Given the description of an element on the screen output the (x, y) to click on. 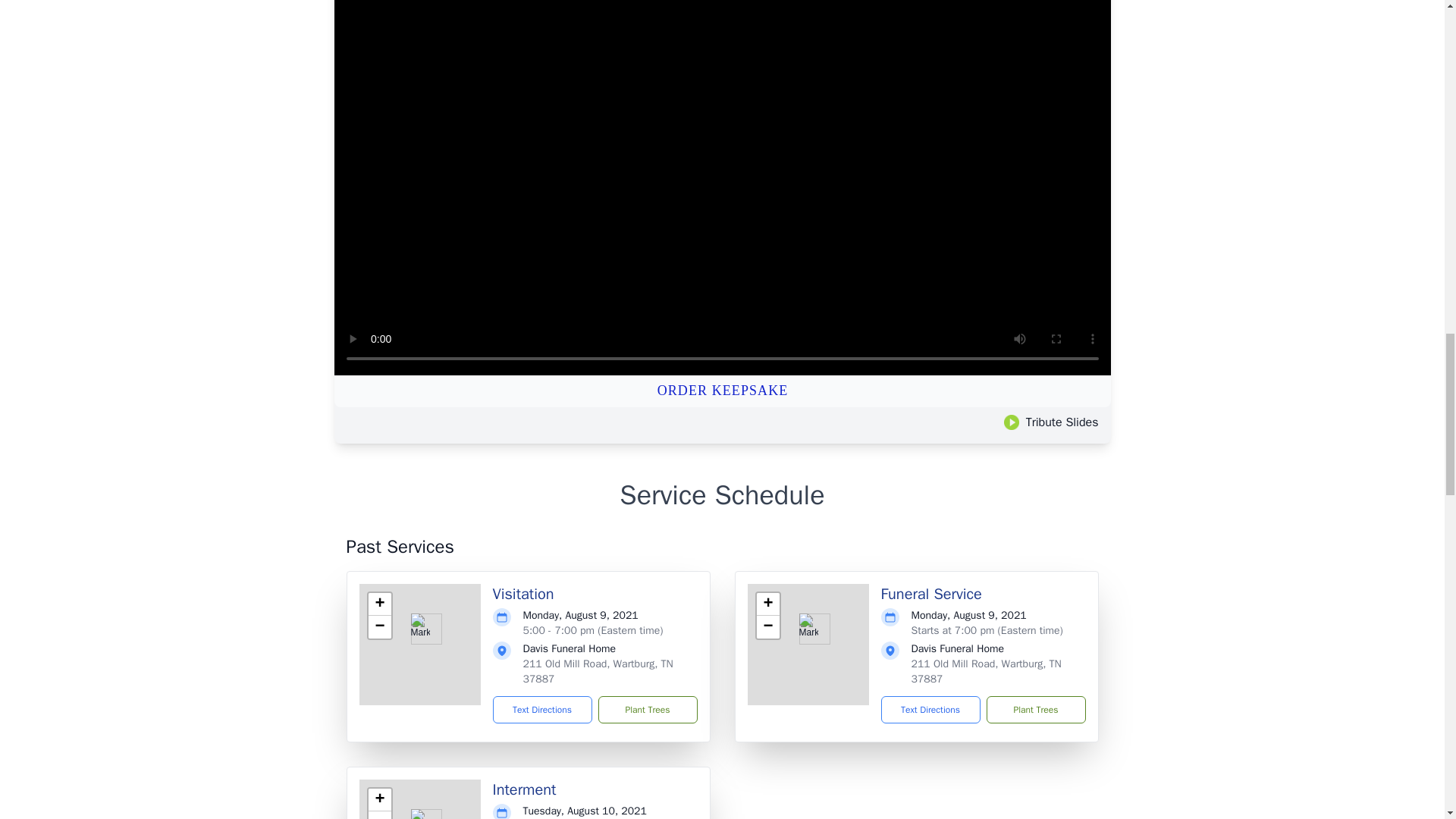
Text Directions (929, 709)
Plant Trees (646, 709)
Zoom in (379, 799)
Zoom out (379, 626)
Plant Trees (1034, 709)
Zoom in (379, 603)
211 Old Mill Road, Wartburg, TN 37887 (597, 671)
211 Old Mill Road, Wartburg, TN 37887 (986, 671)
Zoom out (767, 626)
Text Directions (542, 709)
Zoom out (379, 815)
Zoom in (767, 603)
